Given the description of an element on the screen output the (x, y) to click on. 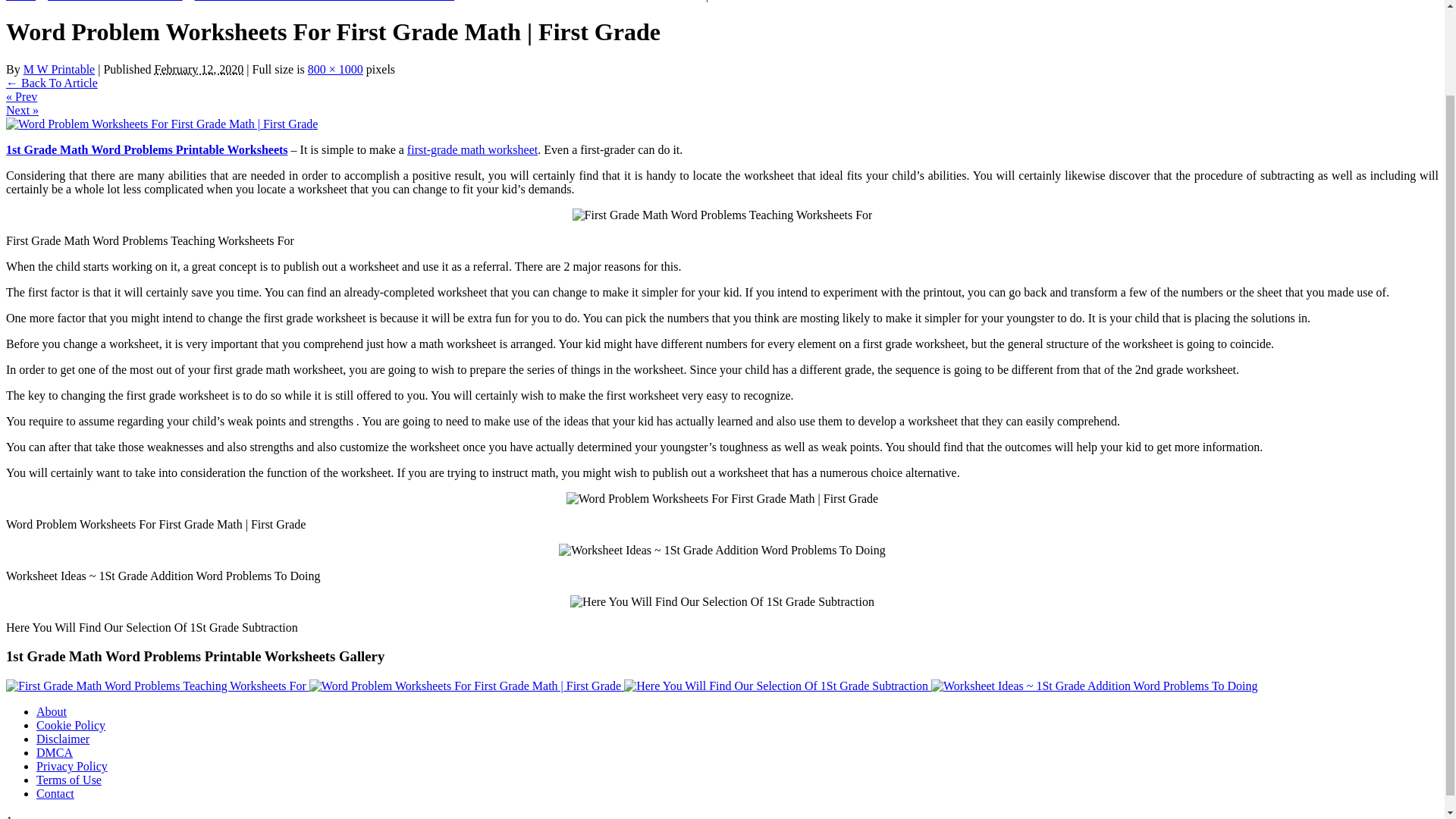
first grade math word problems teaching worksheets for (722, 214)
7:09 pm (199, 69)
Link to full-size image (334, 69)
View all posts by M W Printable (59, 69)
Home (19, 0)
Cookie Policy (70, 725)
1st Grade Math Word Problems Printable Worksheets (146, 149)
1st Grade Math Worksheets (115, 0)
word problem worksheets for first grade math first grade 4 (721, 499)
here you will find our selection of 1st grade subtraction (722, 602)
first-grade math worksheet (472, 149)
Terms of Use (68, 779)
About (51, 711)
Privacy Policy (71, 766)
